Given the description of an element on the screen output the (x, y) to click on. 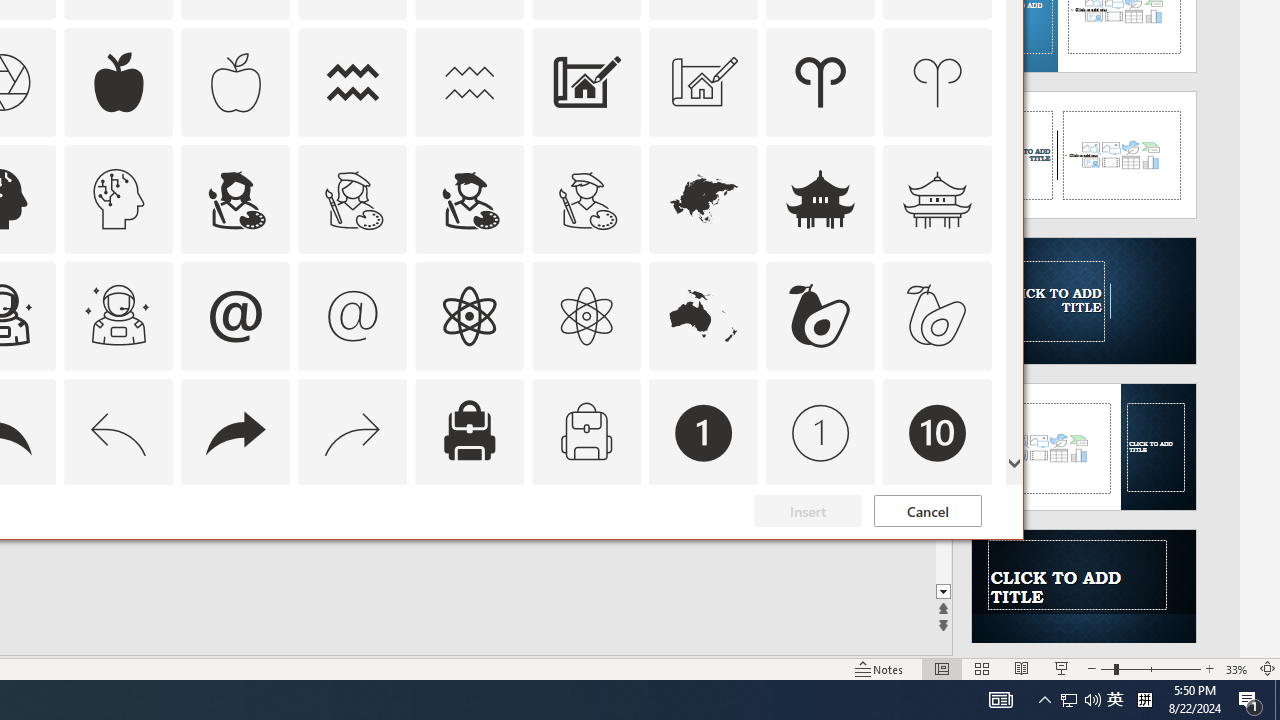
Action Center, 1 new notification (1250, 699)
AutomationID: Icons_At (235, 316)
AutomationID: Icons_Asia (703, 198)
AutomationID: Icons_Badge10 (938, 432)
AutomationID: Icons_AstronautMale_M (118, 316)
